Given the description of an element on the screen output the (x, y) to click on. 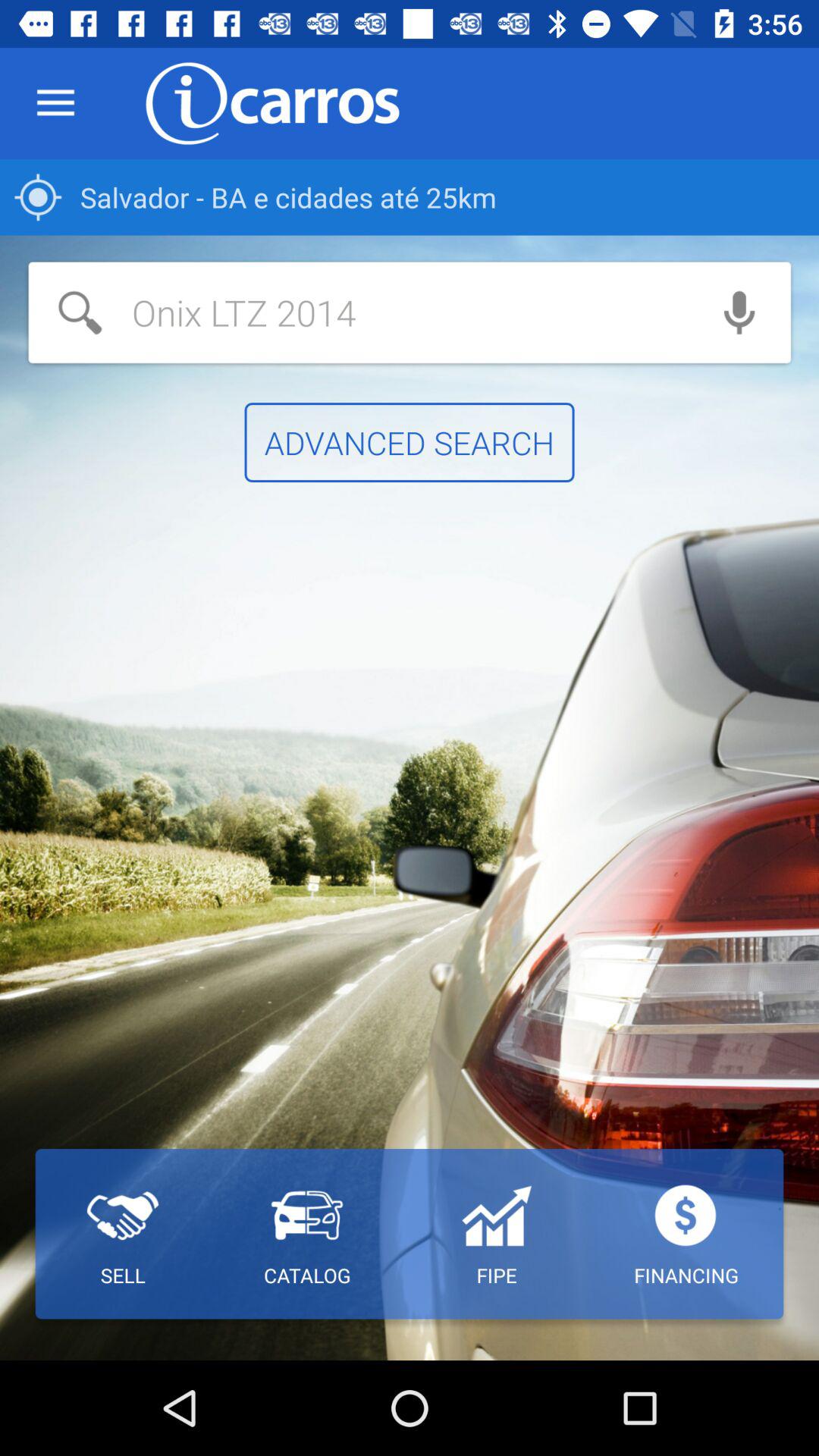
tap icon to the right of the sell (306, 1233)
